Given the description of an element on the screen output the (x, y) to click on. 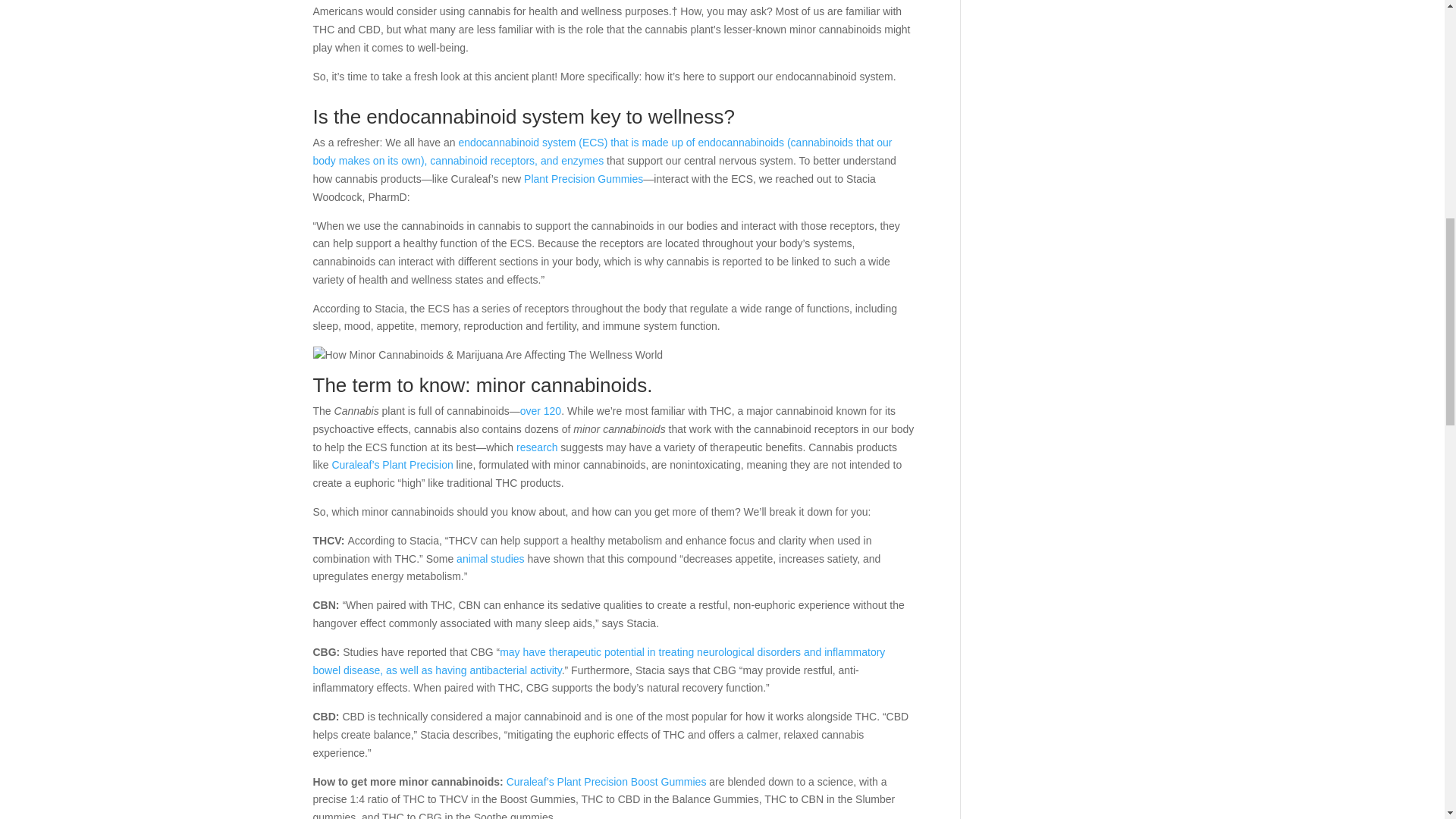
Plant Precision Gummies (583, 178)
research (536, 447)
over 120 (539, 410)
animal studies (490, 558)
